Given the description of an element on the screen output the (x, y) to click on. 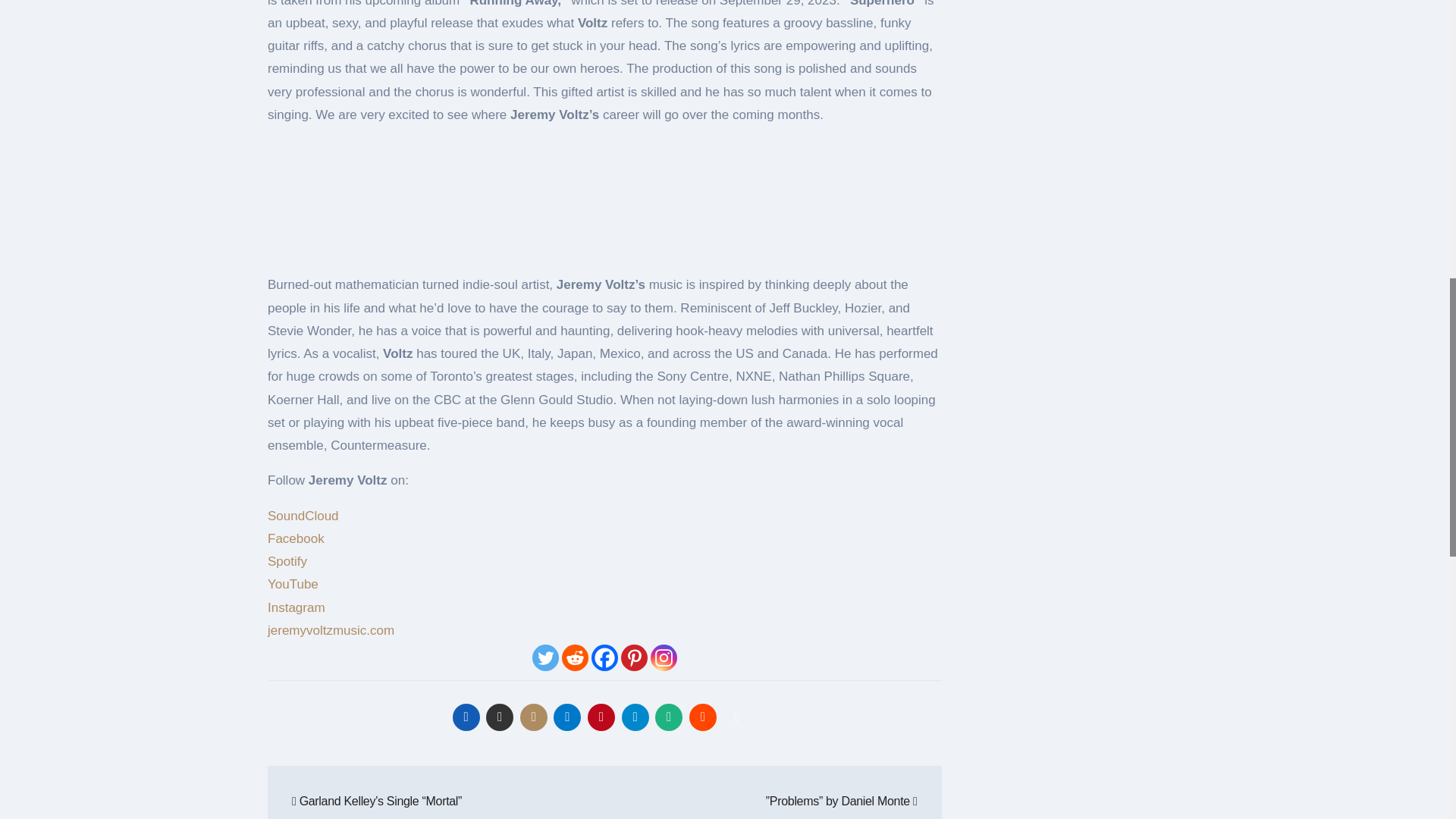
jeremyvoltzmusic.com (330, 630)
Instagram (295, 607)
Pinterest (634, 657)
Facebook (604, 657)
Spotify (287, 561)
Twitter (545, 657)
Spotify Embed: Superhero (604, 195)
YouTube (292, 584)
Reddit (575, 657)
SoundCloud (303, 515)
Facebook (295, 538)
Instagram (663, 657)
